Given the description of an element on the screen output the (x, y) to click on. 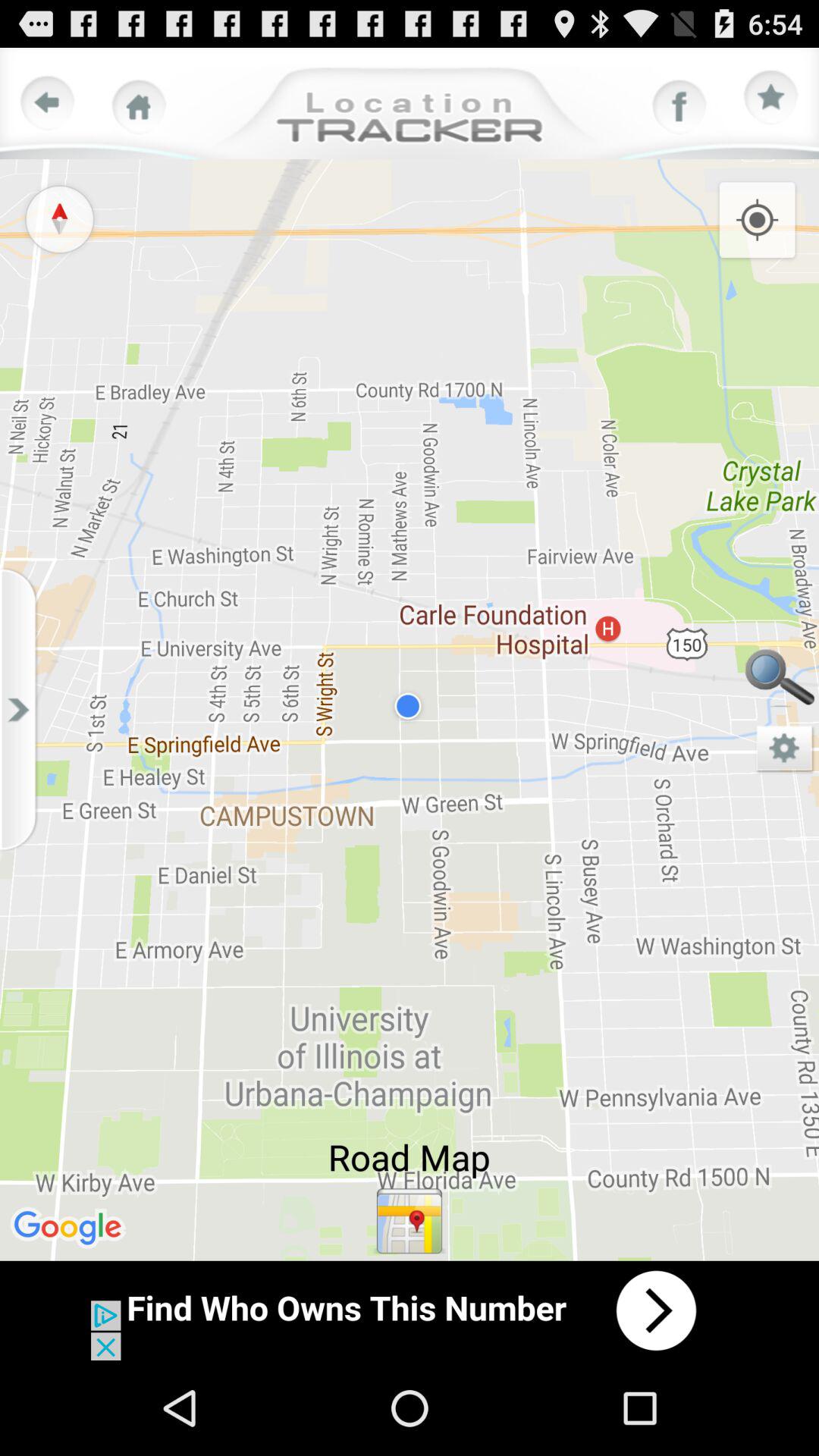
face book option (679, 107)
